Given the description of an element on the screen output the (x, y) to click on. 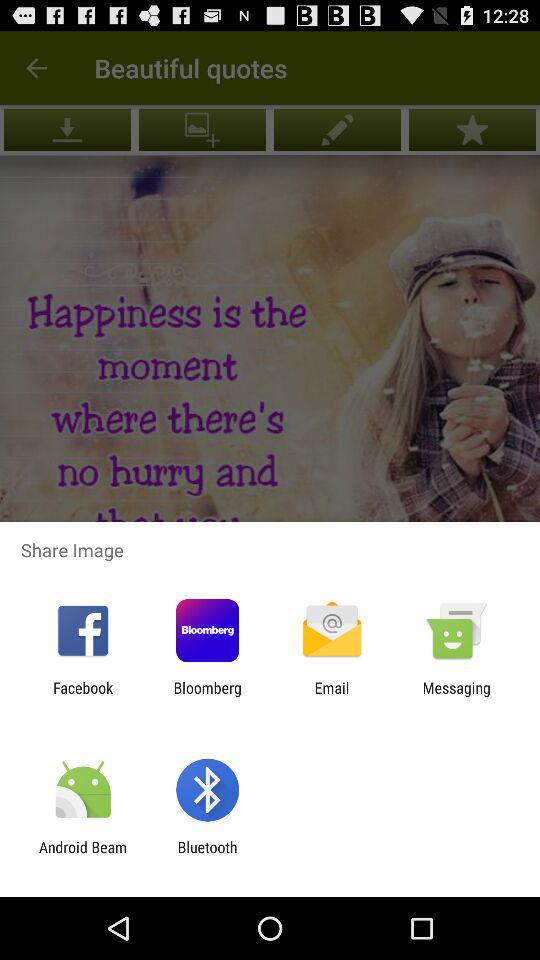
flip until the messaging app (456, 696)
